Given the description of an element on the screen output the (x, y) to click on. 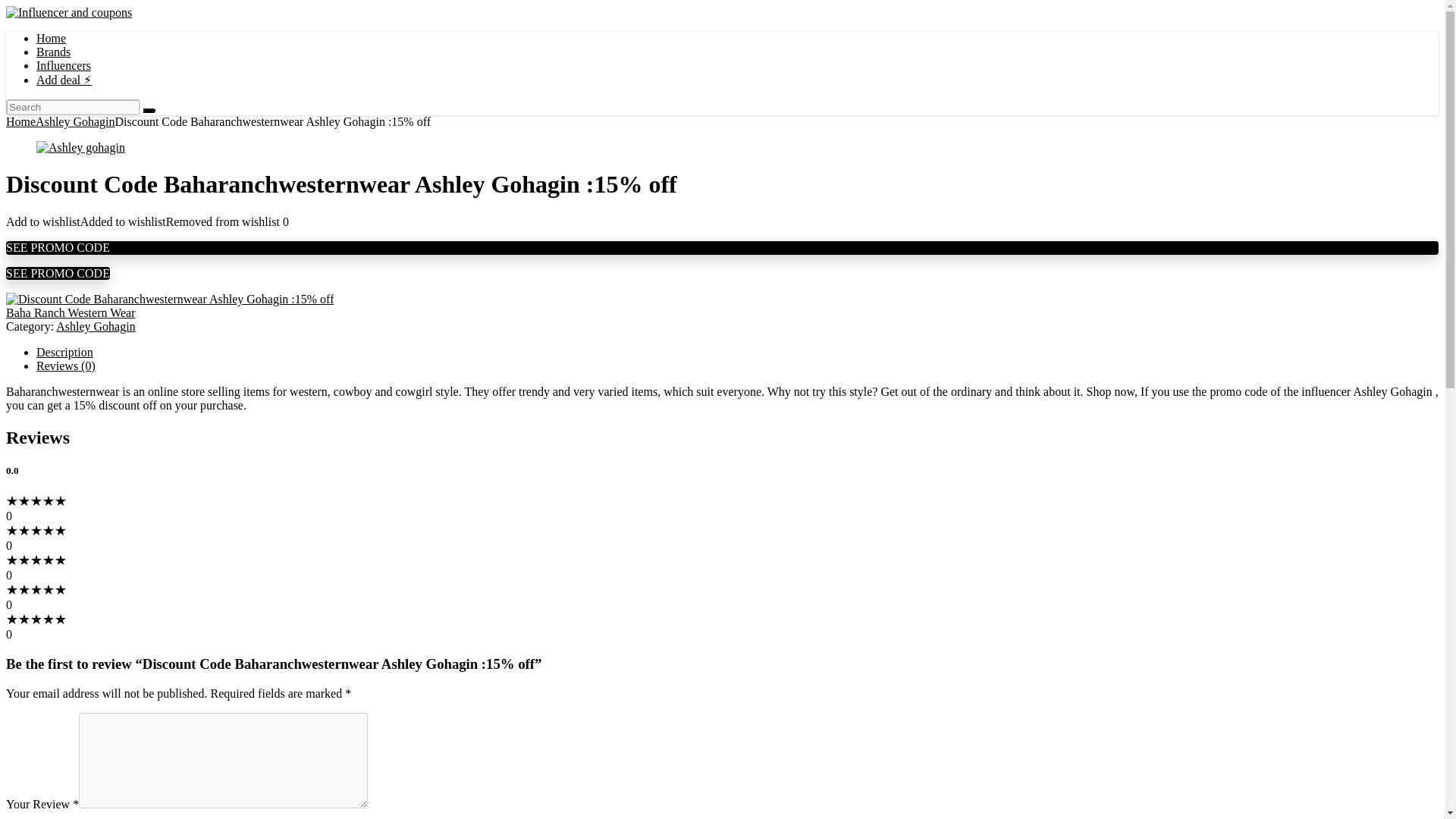
Ashley Gohagin (74, 121)
Ashley gohagin (80, 147)
Baha Ranch Western Wear (70, 312)
Brands (52, 51)
Home (19, 121)
Description (64, 351)
SEE PROMO CODE (57, 273)
Ashley Gohagin (95, 326)
Home (50, 38)
Influencers (63, 65)
